Given the description of an element on the screen output the (x, y) to click on. 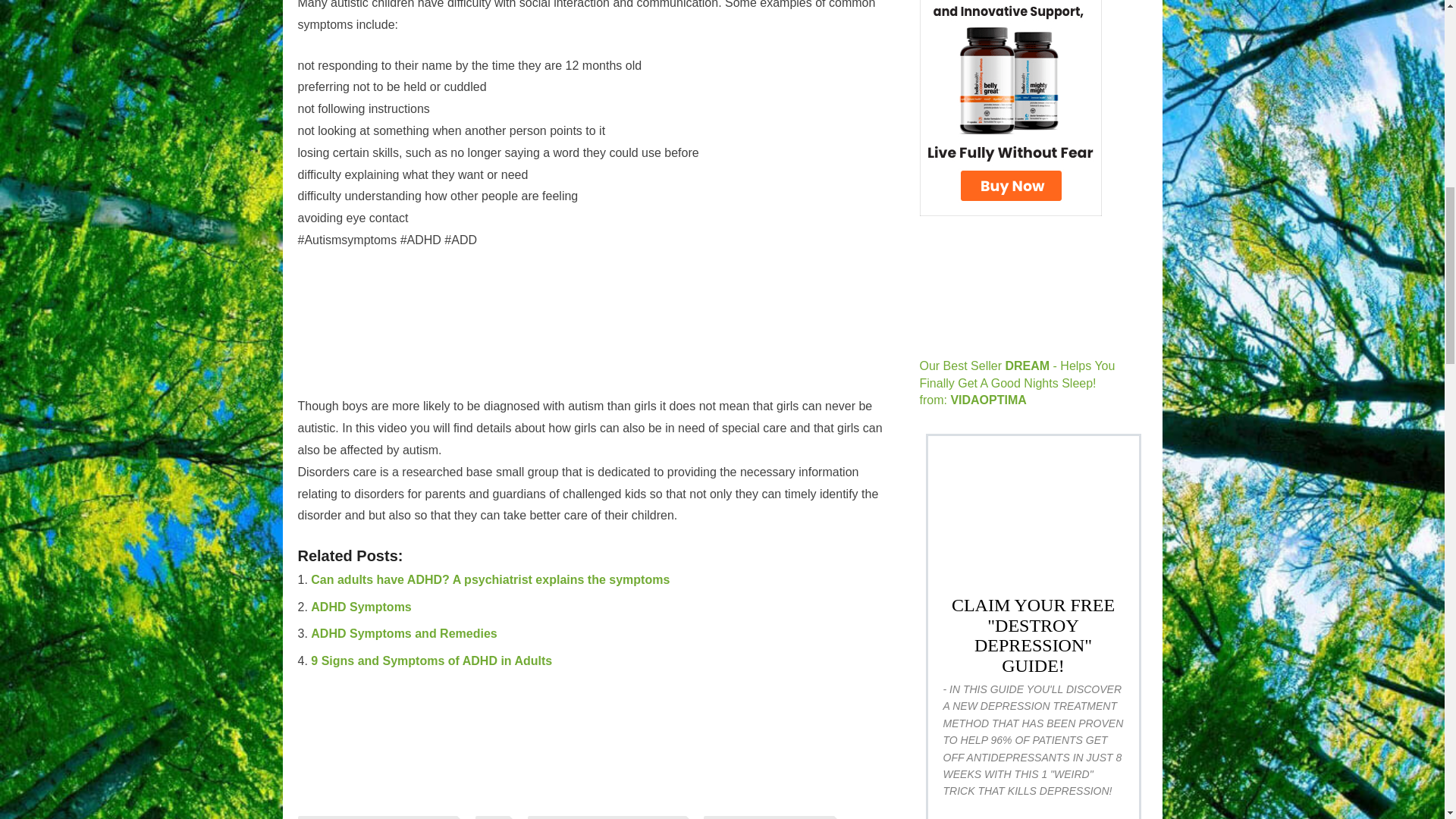
Can adults have ADHD? A psychiatrist explains the symptoms (490, 579)
ADHD SYMPTOMS IN WOMEN (767, 817)
2ND APRIL AUTISM AWARENESS DAY (377, 817)
ADHD (492, 817)
ADHD SYMPTOMS IN ADULT WOMEN (606, 817)
9 Signs and Symptoms of ADHD in Adults (431, 660)
ADHD Symptoms (360, 606)
Can adults have ADHD? A psychiatrist explains the symptoms (490, 579)
9 Signs and Symptoms of ADHD in Adults (431, 660)
ADHD Symptoms (360, 606)
ADHD Symptoms and Remedies (403, 633)
ADHD Symptoms and Remedies (403, 633)
